Given the description of an element on the screen output the (x, y) to click on. 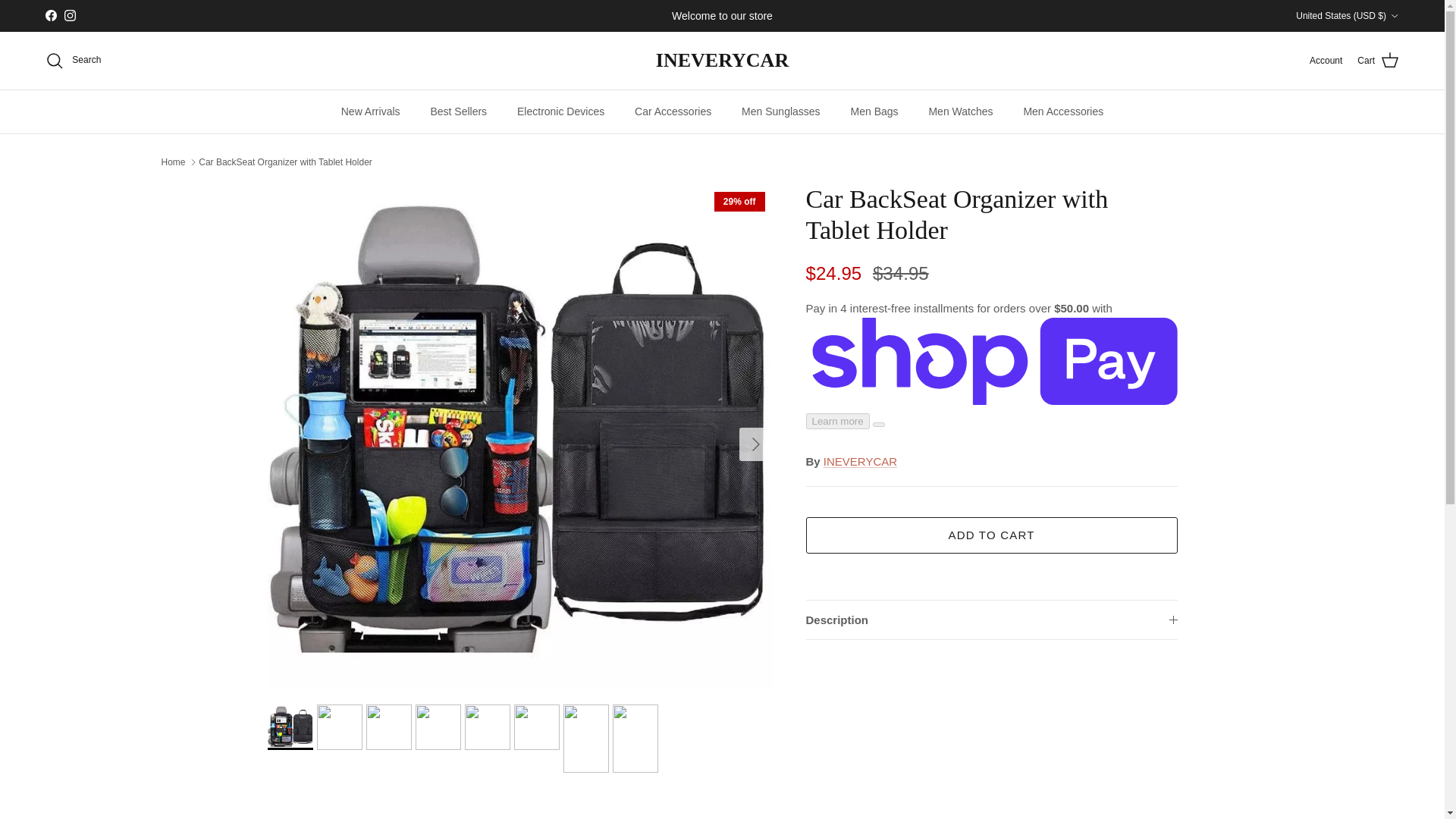
Facebook (50, 15)
Instagram (69, 15)
Best Sellers (458, 111)
Men Accessories (1062, 111)
INEVERYCAR (722, 60)
Men Sunglasses (781, 111)
INEVERYCAR on Facebook (50, 15)
Search (72, 60)
Account (1325, 60)
Car Accessories (673, 111)
